Given the description of an element on the screen output the (x, y) to click on. 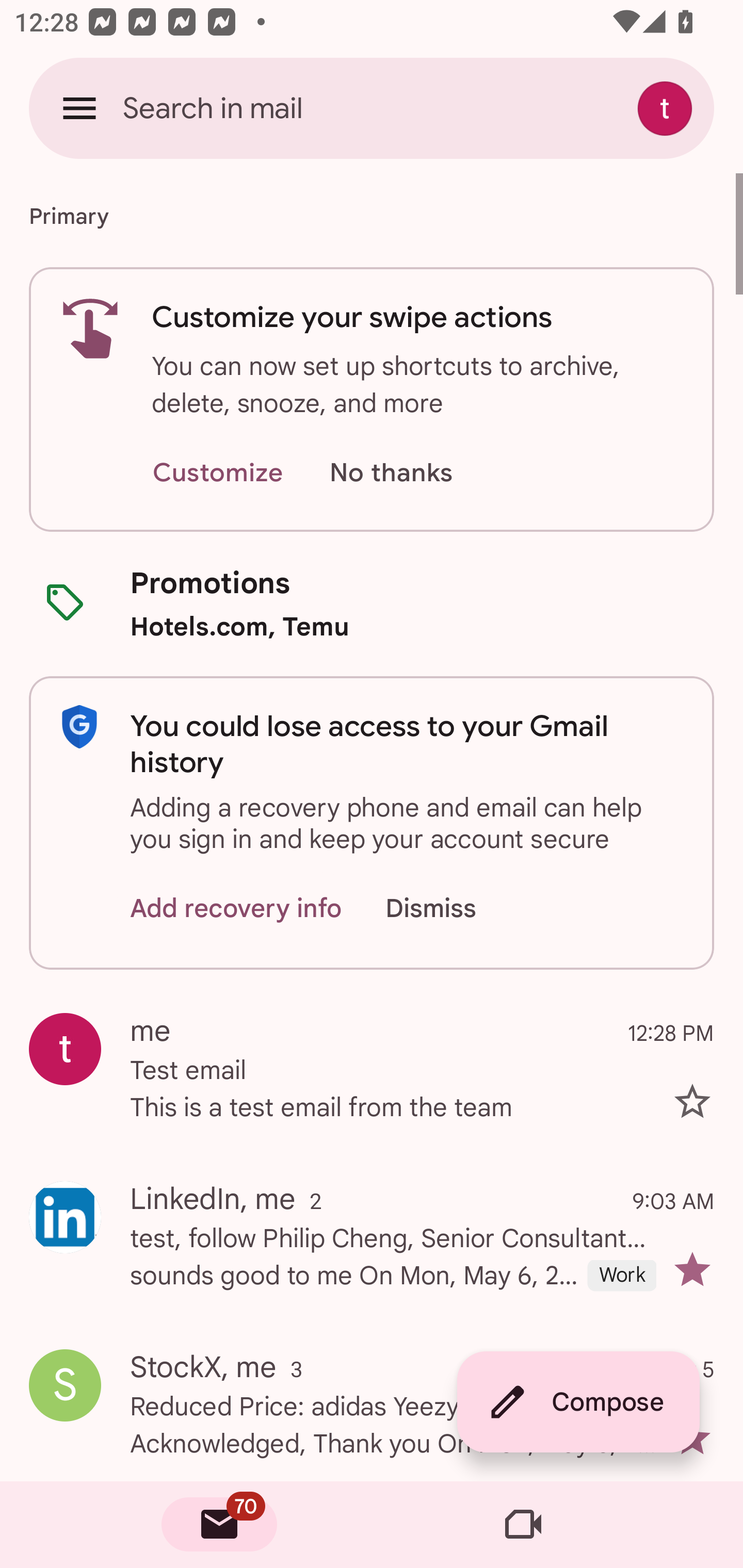
Open navigation drawer (79, 108)
Customize (217, 473)
No thanks (390, 473)
Promotions Hotels.com, Temu (371, 603)
Add recovery info (235, 908)
Dismiss (449, 908)
Compose (577, 1401)
Meet (523, 1524)
